Given the description of an element on the screen output the (x, y) to click on. 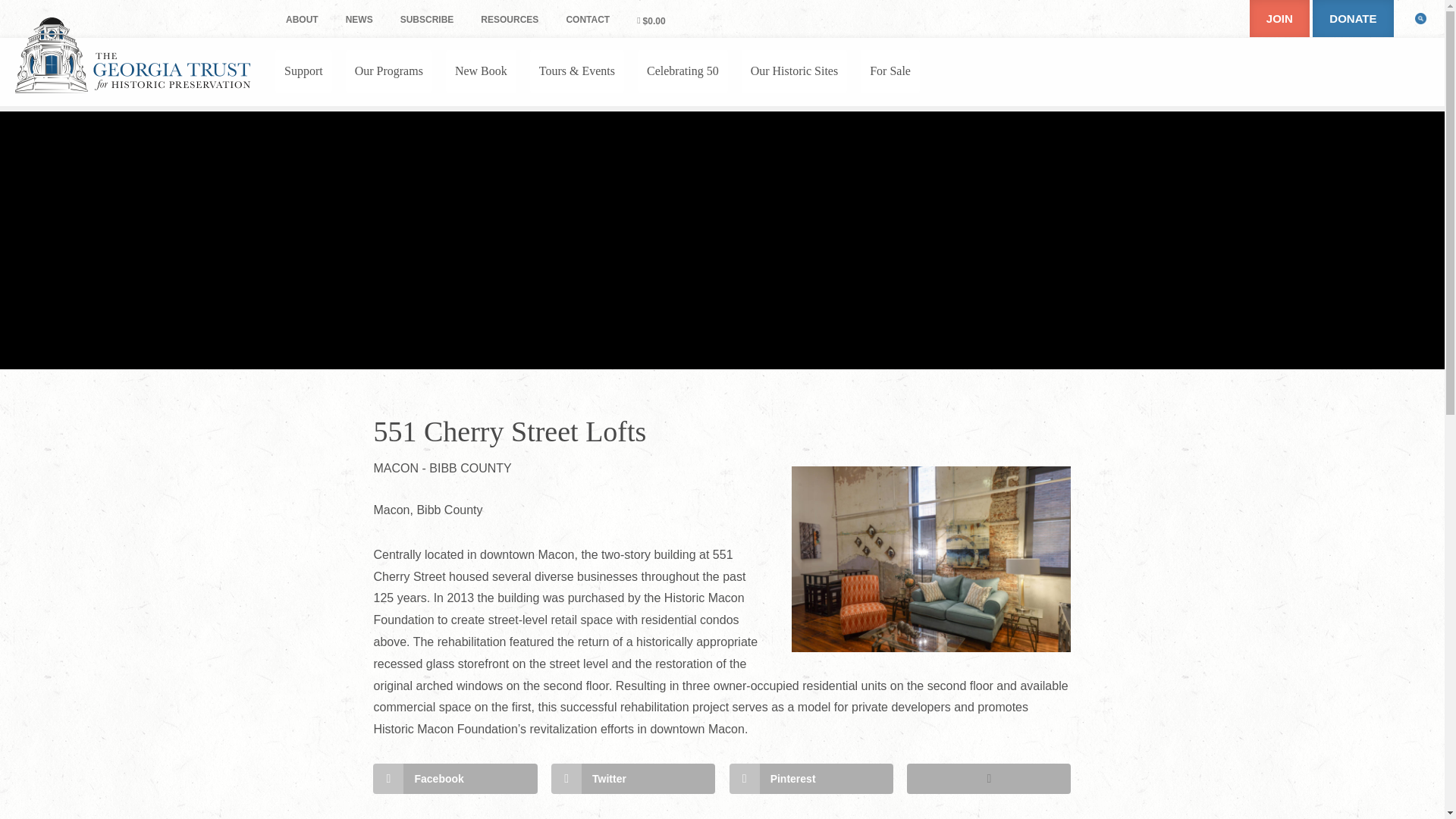
ABOUT (302, 19)
Start shopping (650, 20)
Our Programs (389, 70)
CONTACT (587, 19)
Support (303, 70)
RESOURCES (509, 19)
The Georgia Trust (132, 55)
NEWS (358, 19)
SUBSCRIBE (427, 19)
